Given the description of an element on the screen output the (x, y) to click on. 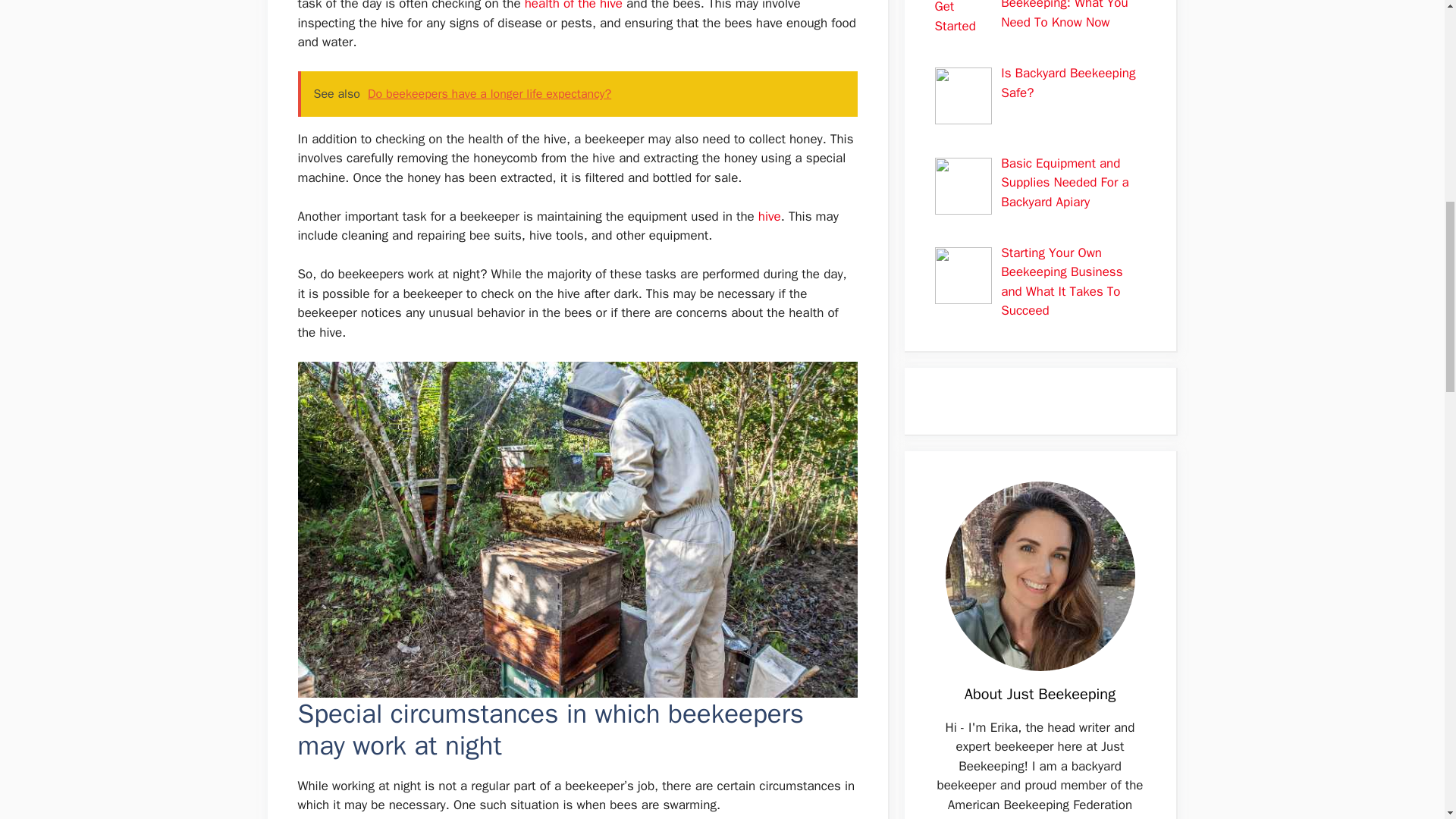
hive (769, 216)
health of the hive (573, 5)
See also  Do beekeepers have a longer life expectancy? (577, 94)
